Given the description of an element on the screen output the (x, y) to click on. 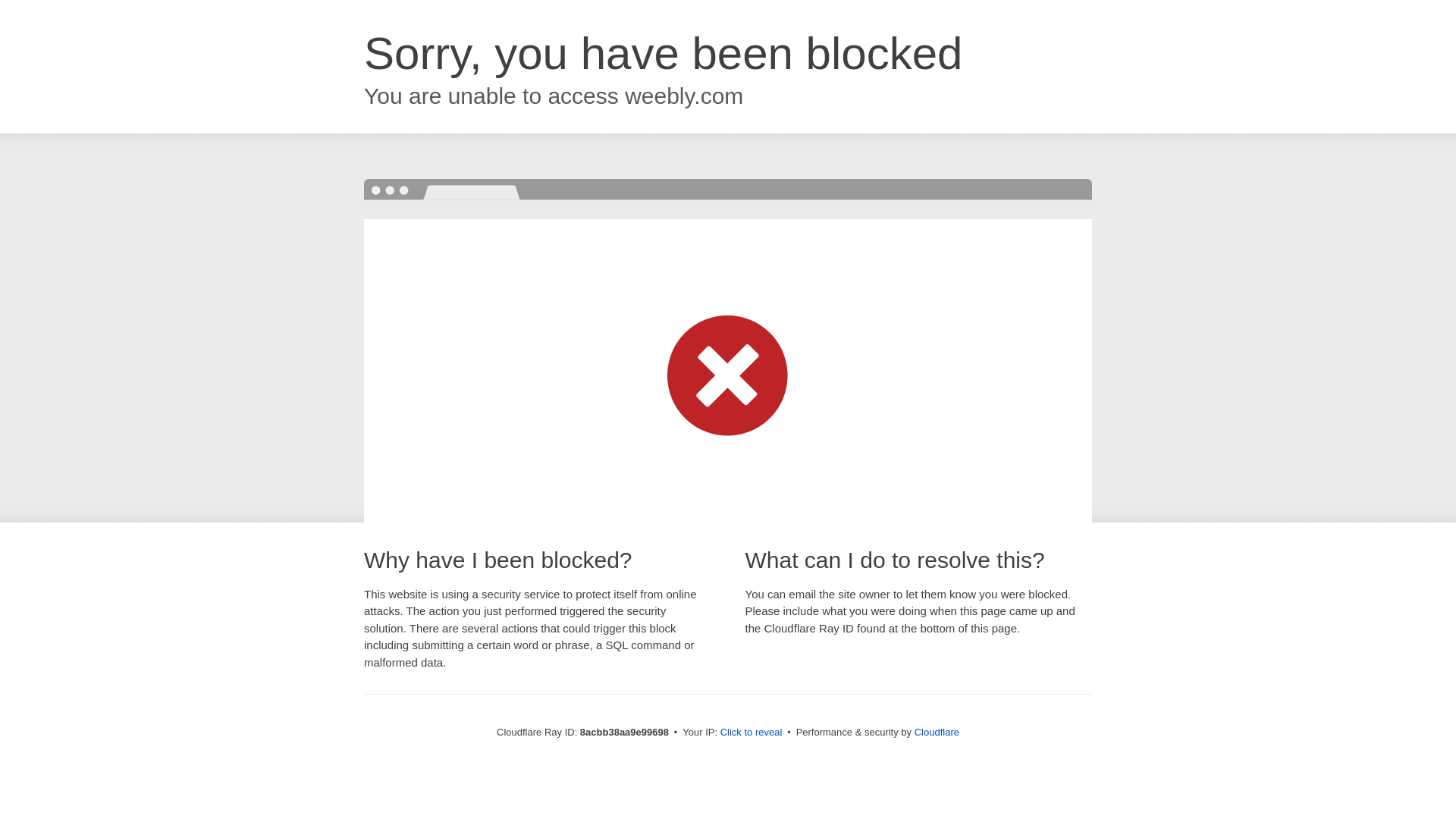
Cloudflare (936, 731)
Click to reveal (751, 732)
